Given the description of an element on the screen output the (x, y) to click on. 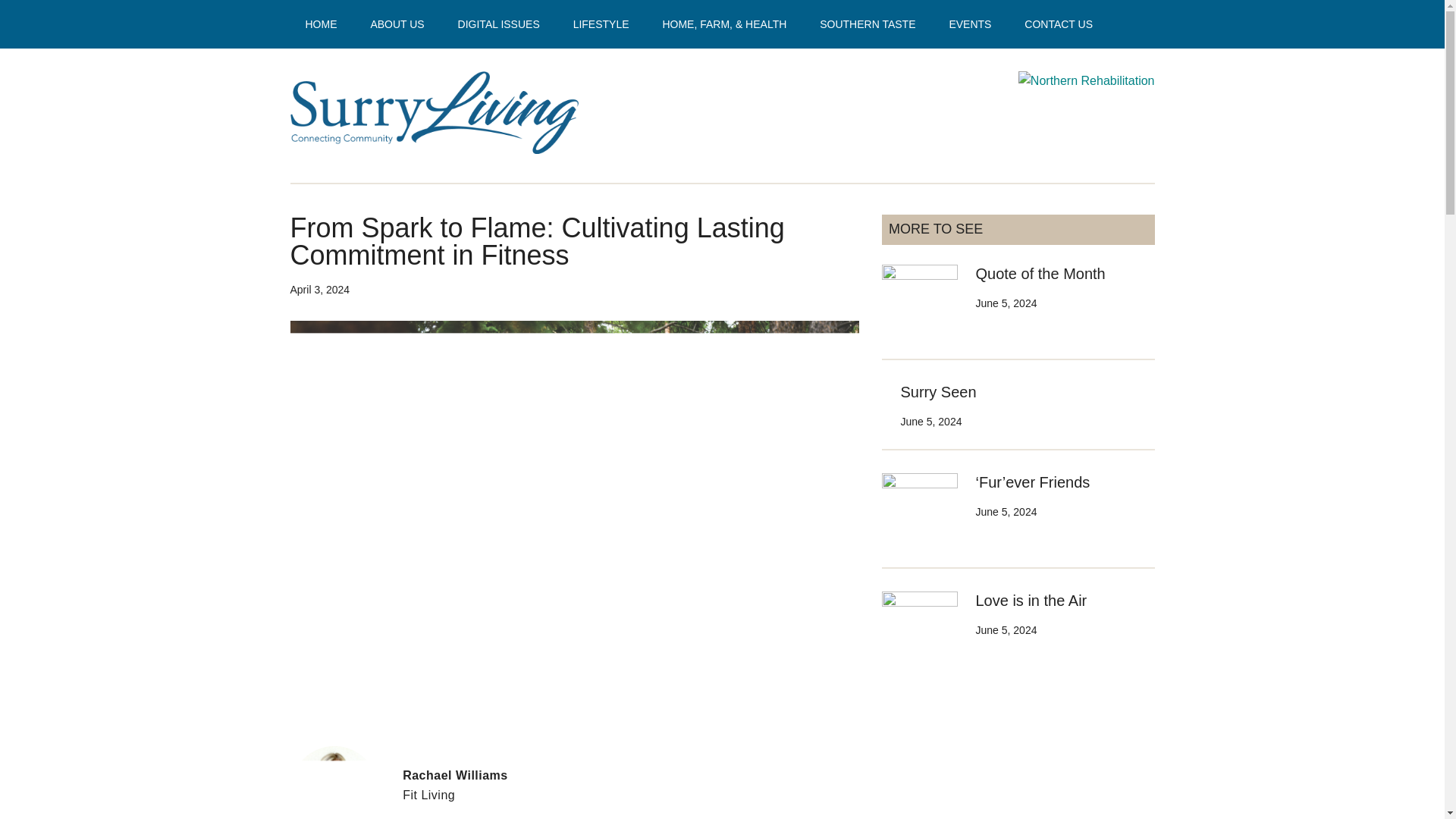
HOME (320, 24)
EVENTS (969, 24)
DIGITAL ISSUES (498, 24)
CONTACT US (1058, 24)
ABOUT US (397, 24)
Quote of the Month (1040, 273)
Love is in the Air (1030, 600)
LIFESTYLE (601, 24)
Surry Seen (938, 392)
